Given the description of an element on the screen output the (x, y) to click on. 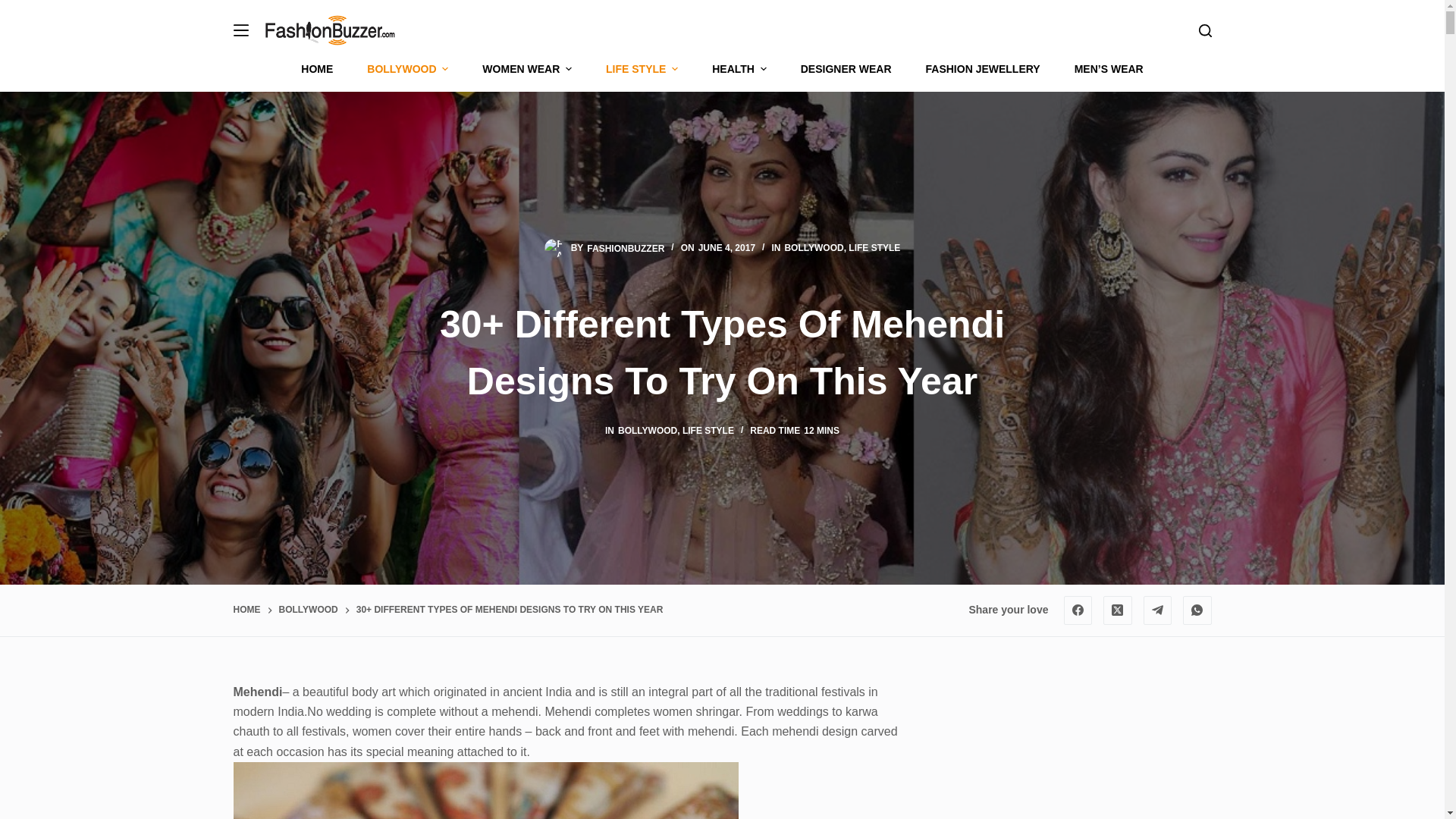
LIFE STYLE (642, 68)
LIFE STYLE (707, 430)
Mehendi Cones (485, 790)
HOME (325, 68)
FASHIONBUZZER (624, 247)
LIFE STYLE (873, 247)
Posts by Fashionbuzzer (624, 247)
FASHION JEWELLERY (982, 68)
HOME (246, 610)
BOLLYWOOD (647, 430)
BOLLYWOOD (308, 610)
BOLLYWOOD (813, 247)
HEALTH (739, 68)
BOLLYWOOD (407, 68)
Skip to content (15, 7)
